Given the description of an element on the screen output the (x, y) to click on. 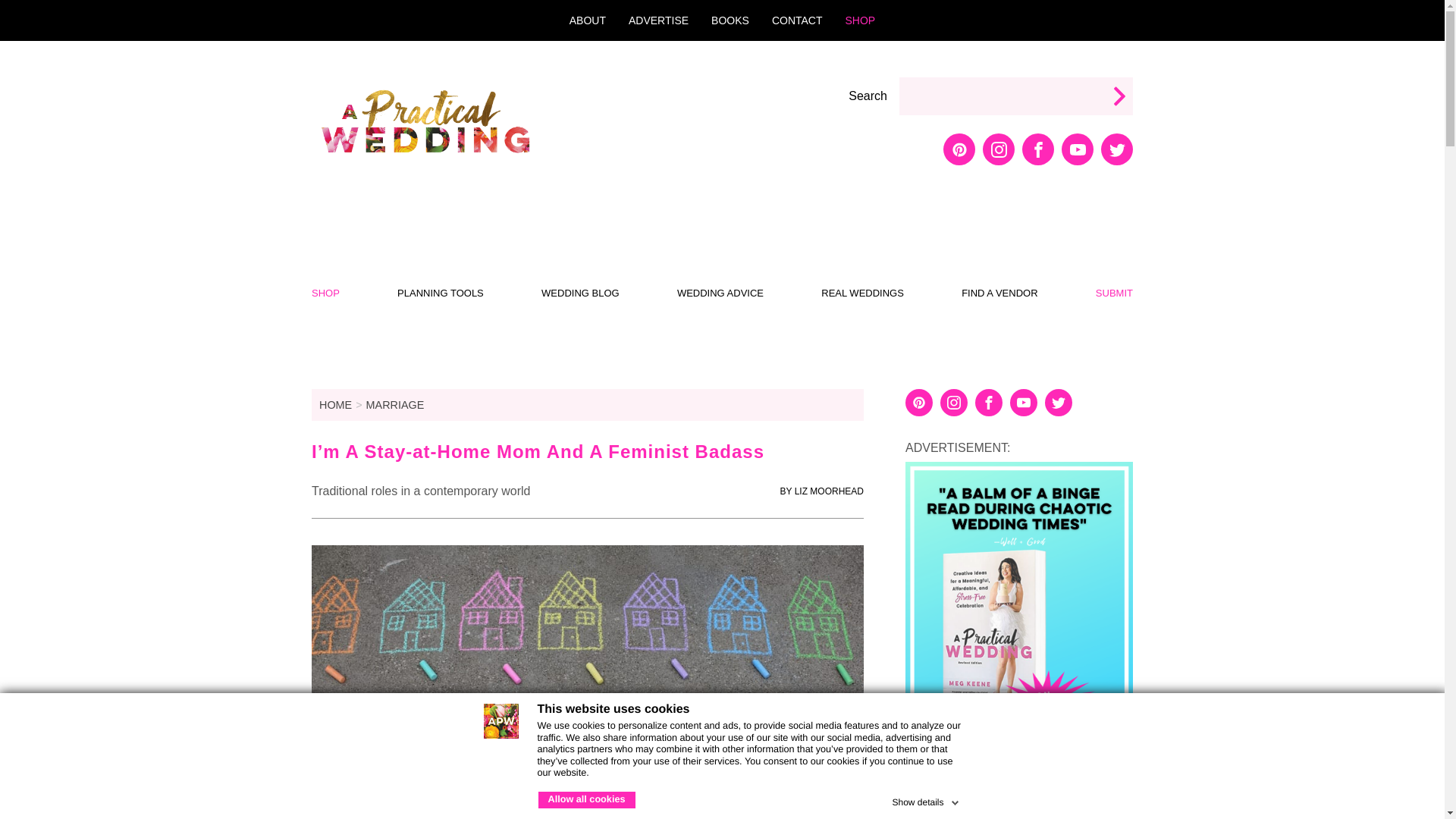
Show details (925, 799)
Allow all cookies (586, 799)
